Given the description of an element on the screen output the (x, y) to click on. 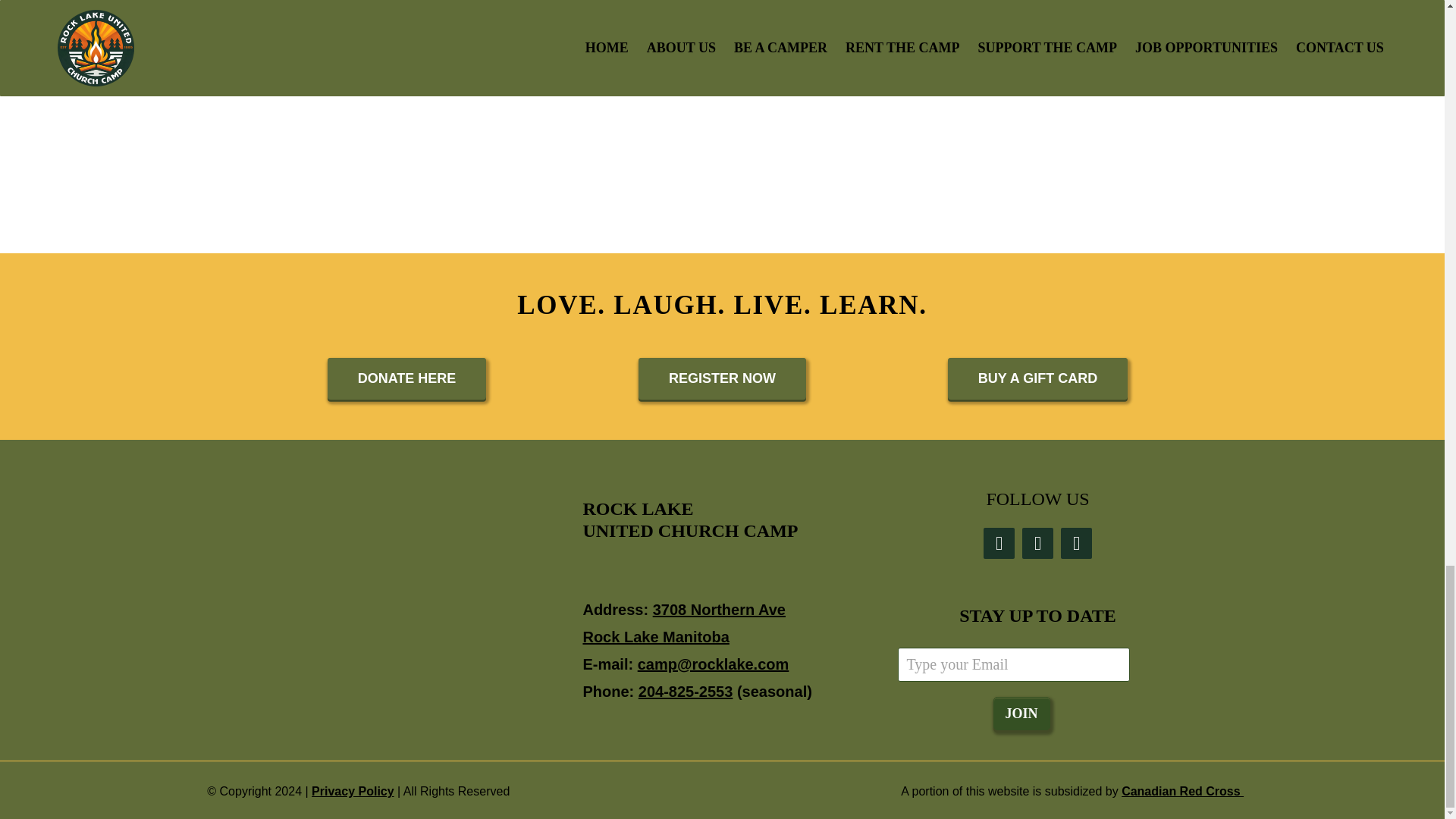
REGISTER NOW (722, 378)
YouTube (1076, 542)
BUY A GIFT CARD (1036, 378)
ACTIVITIES (958, 20)
Instagram (1037, 542)
DONATE HERE (406, 378)
GALLERY (485, 20)
Facebook (999, 542)
ucc-camps-logo (478, 675)
